Given the description of an element on the screen output the (x, y) to click on. 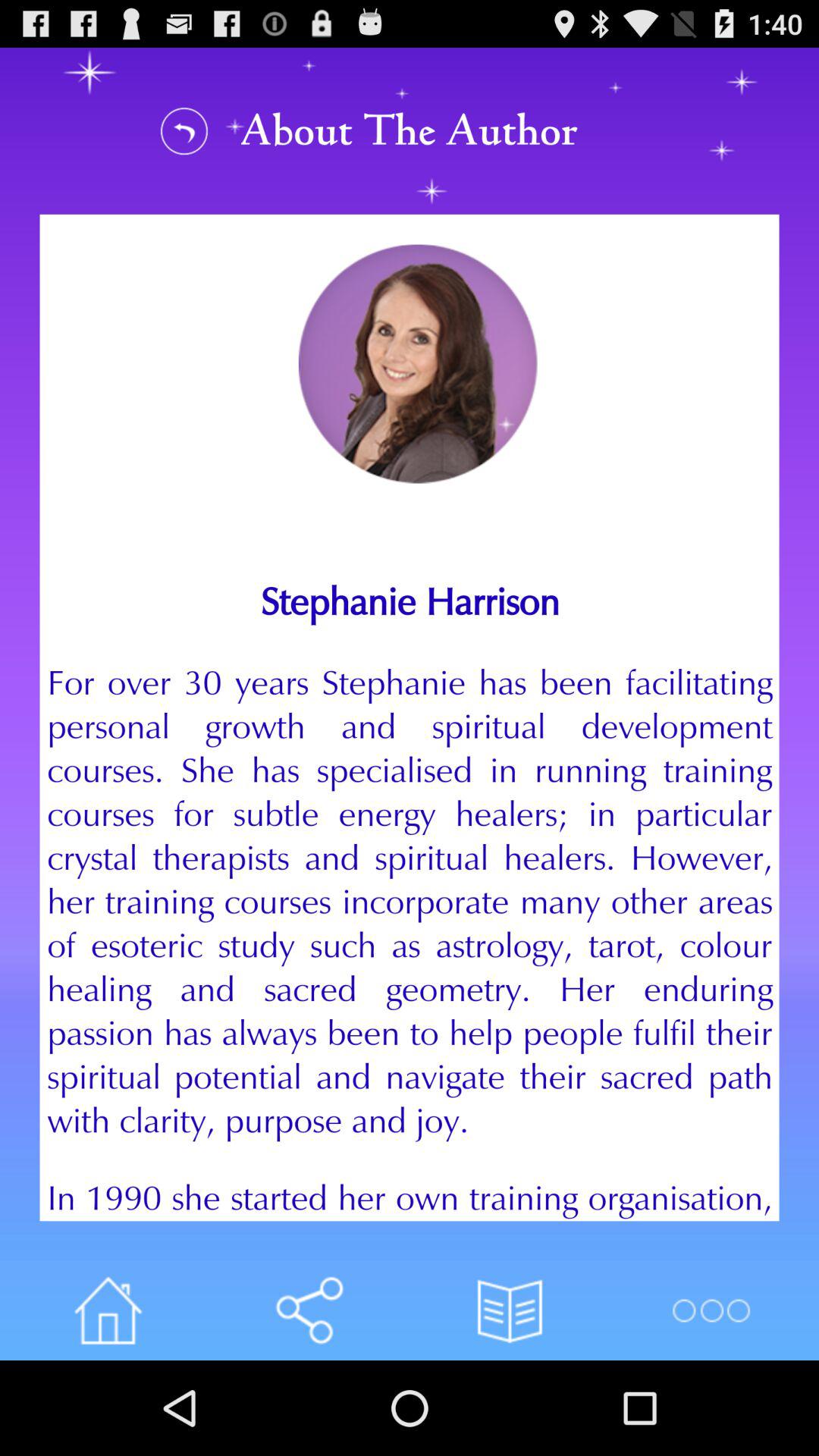
more options (710, 1310)
